Given the description of an element on the screen output the (x, y) to click on. 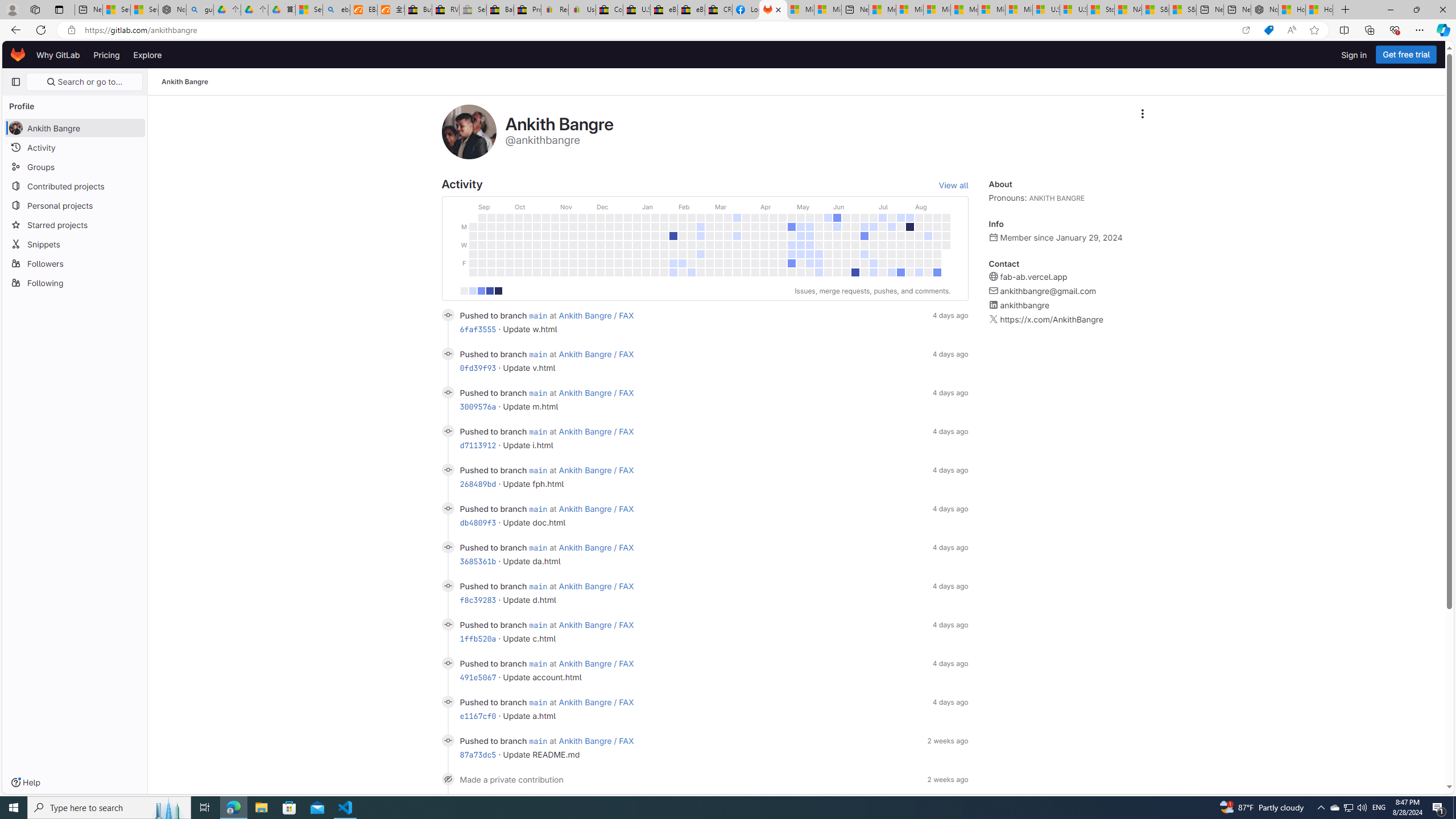
avatar (15, 128)
Consumer Health Data Privacy Policy - eBay Inc. (609, 9)
268489bd (478, 483)
Get free trial (1406, 54)
